Given the description of an element on the screen output the (x, y) to click on. 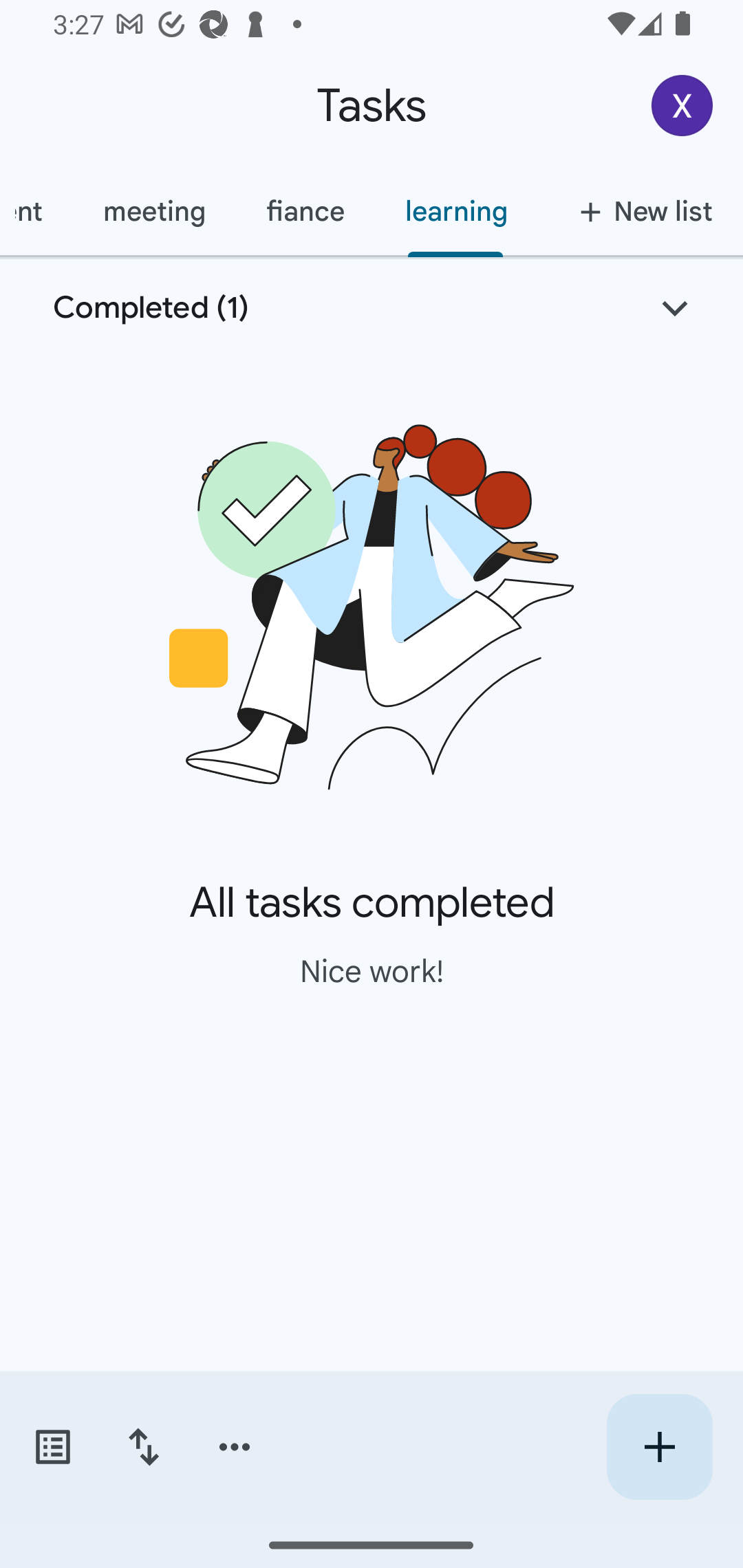
meeting (153, 211)
fiance (304, 211)
New list (640, 211)
Completed (1) (371, 307)
Switch task lists (52, 1447)
Create new task (659, 1446)
Change sort order (143, 1446)
More options (234, 1446)
